Given the description of an element on the screen output the (x, y) to click on. 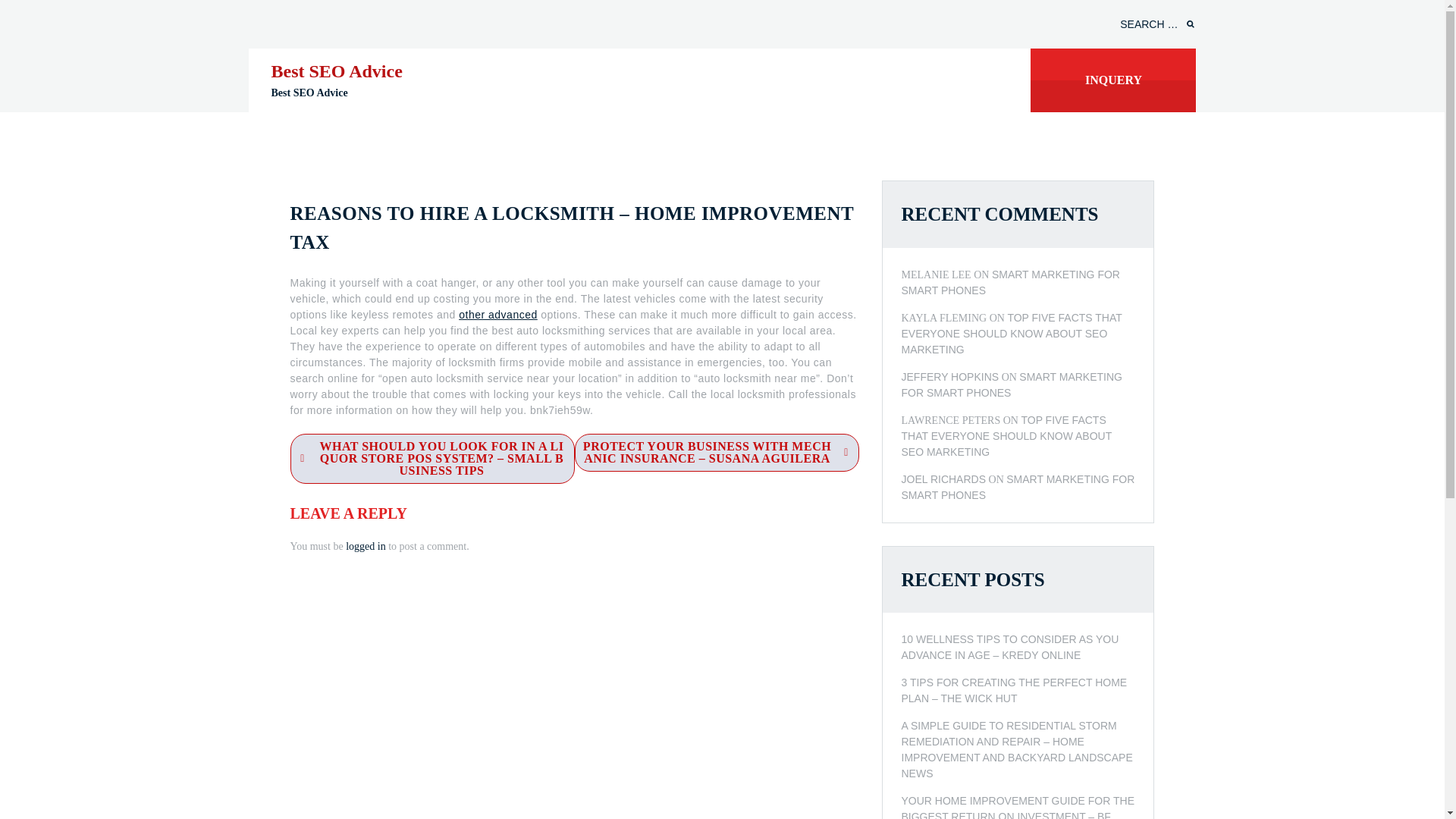
other advanced (497, 314)
TOP FIVE FACTS THAT EVERYONE SHOULD KNOW ABOUT SEO MARKETING (1011, 332)
TOP FIVE FACTS THAT EVERYONE SHOULD KNOW ABOUT SEO MARKETING (1005, 435)
SMART MARKETING FOR SMART PHONES (1011, 384)
SMART MARKETING FOR SMART PHONES (1010, 282)
JEFFERY HOPKINS (949, 376)
Best SEO Advice (336, 71)
JOEL RICHARDS (943, 479)
INQUERY (1112, 80)
SMART MARKETING FOR SMART PHONES (1017, 487)
